Given the description of an element on the screen output the (x, y) to click on. 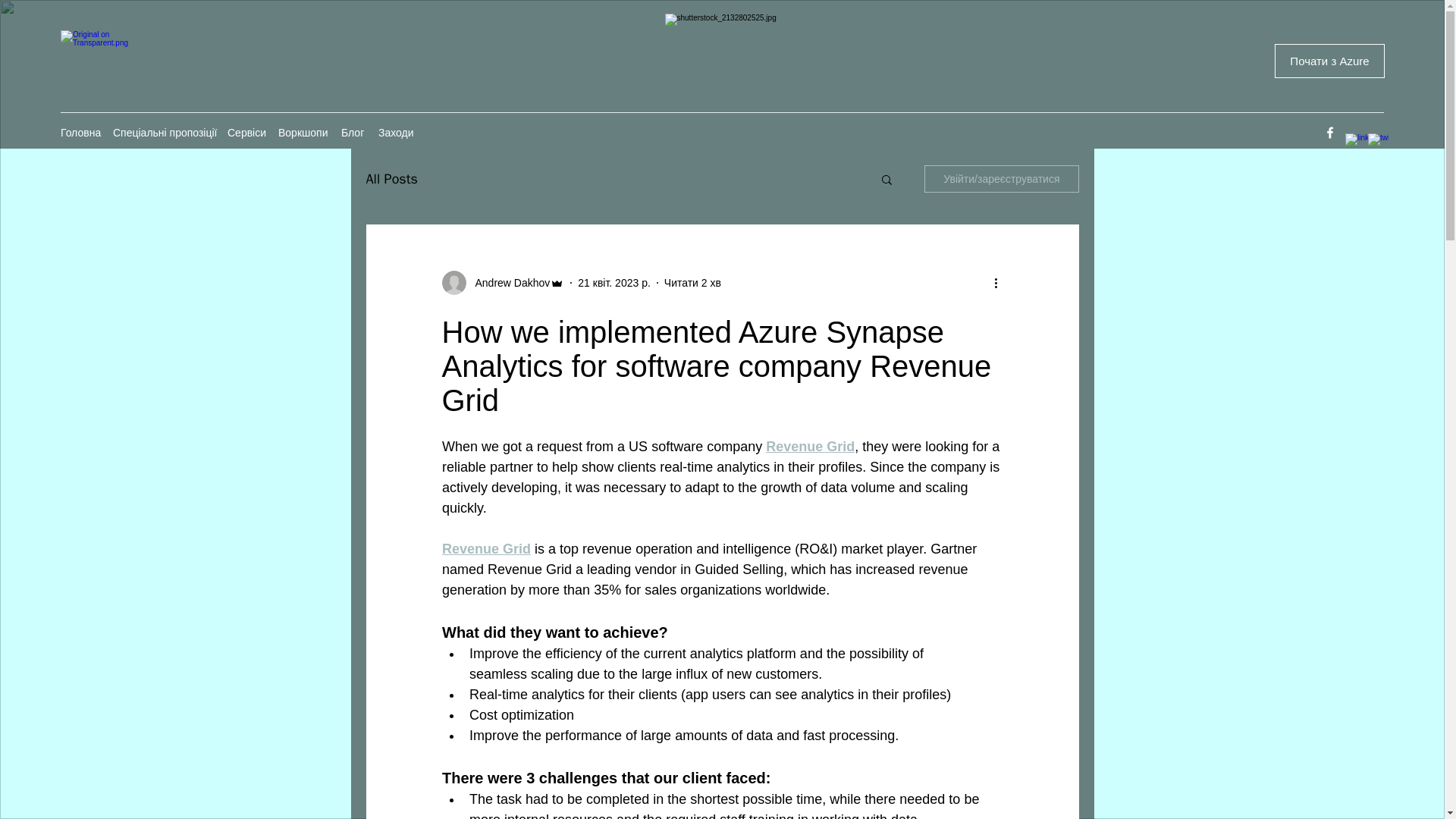
Andrew Dakhov (507, 282)
Revenue Grid (809, 446)
All Posts (390, 178)
Revenue Grid (485, 548)
